Given the description of an element on the screen output the (x, y) to click on. 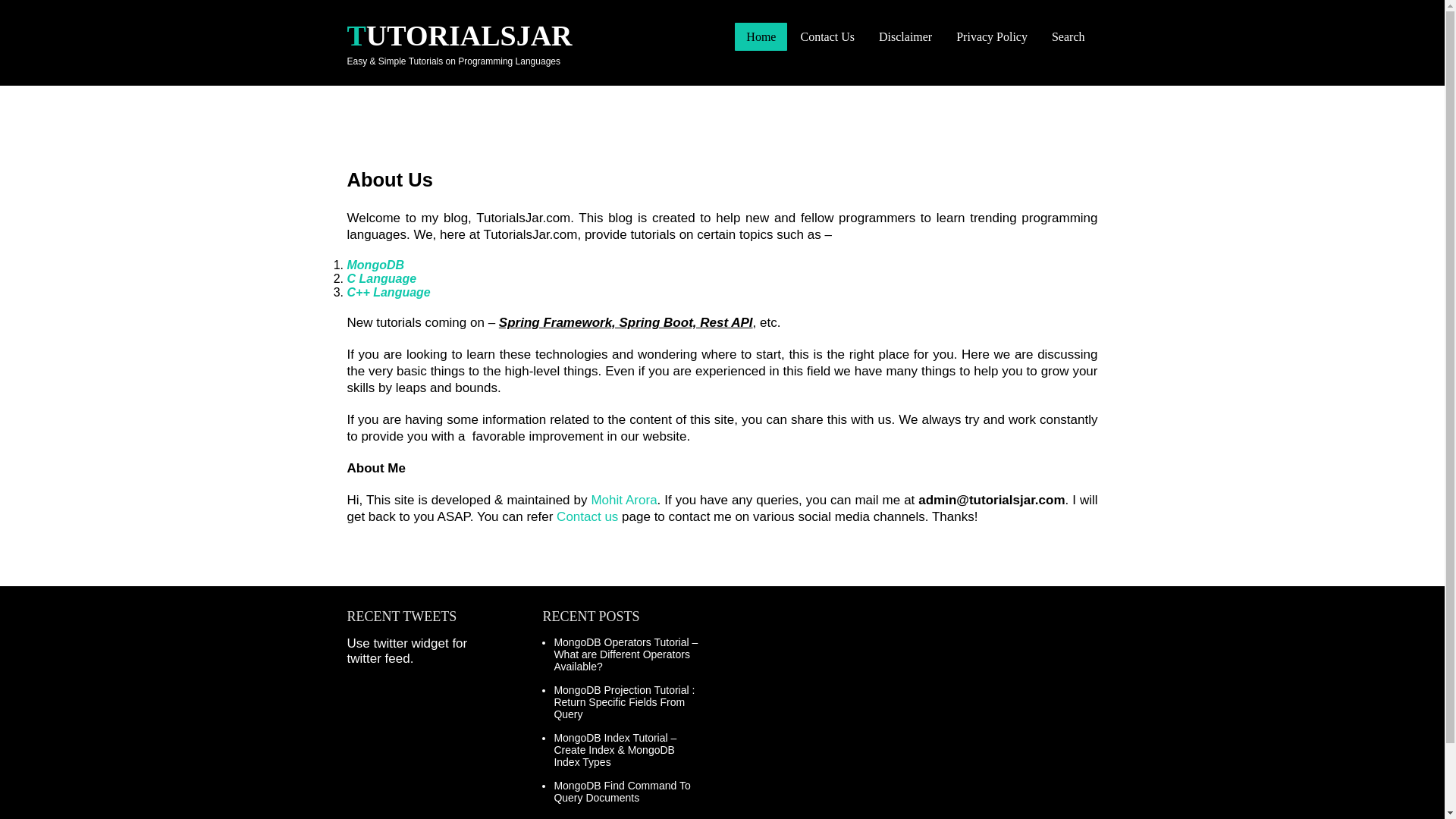
Contact Us (827, 36)
Disclaimer (905, 36)
Mohit Arora (623, 499)
Search (1068, 36)
MongoDB Find Command To Query Documents (621, 791)
TUTORIALSJAR (459, 35)
Contact us (586, 516)
Privacy Policy (991, 36)
MongoDB (375, 264)
C Language (381, 278)
